Given the description of an element on the screen output the (x, y) to click on. 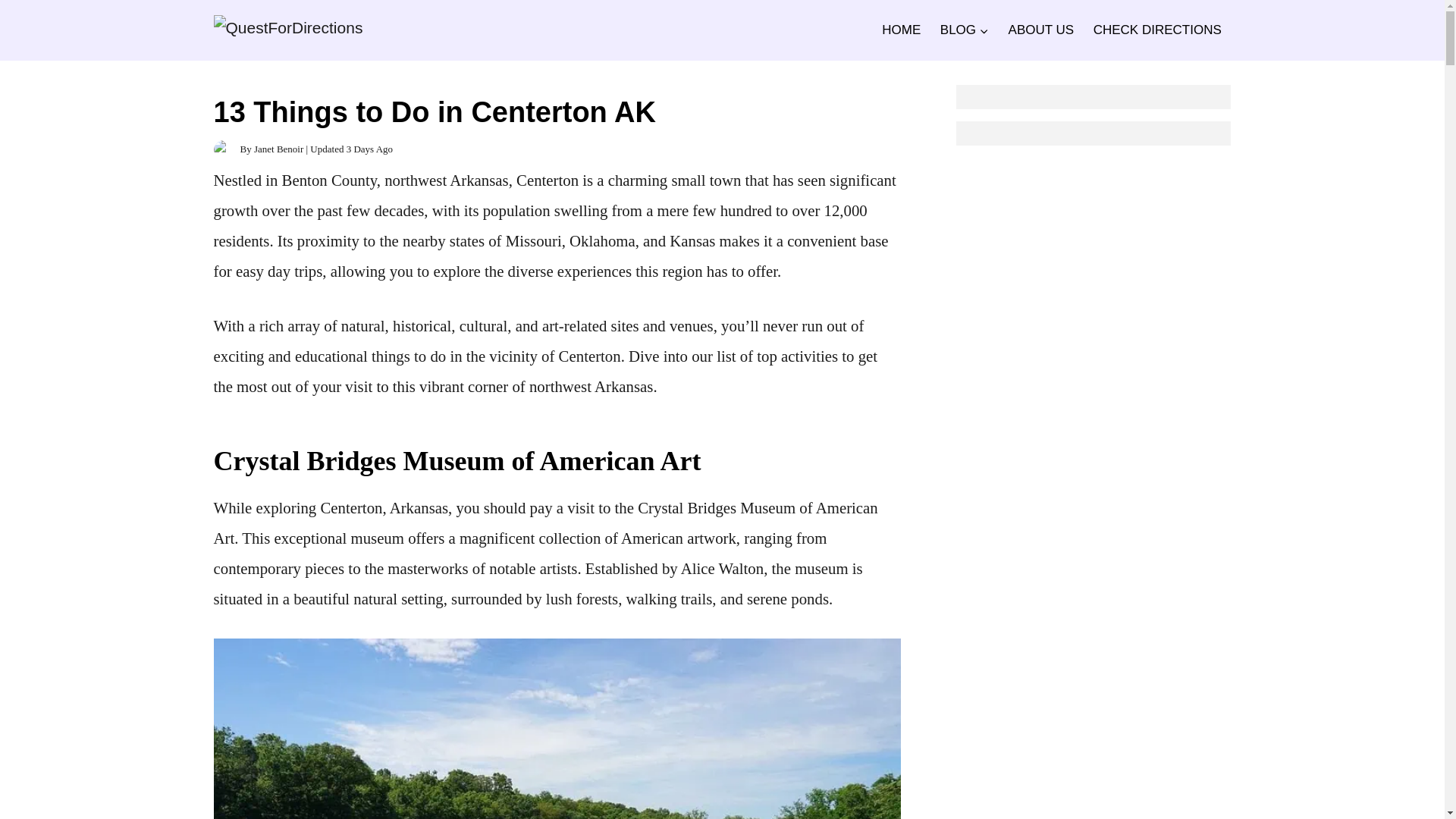
ABOUT US (1040, 30)
CHECK DIRECTIONS (1157, 30)
BLOG (964, 30)
HOME (901, 30)
